Given the description of an element on the screen output the (x, y) to click on. 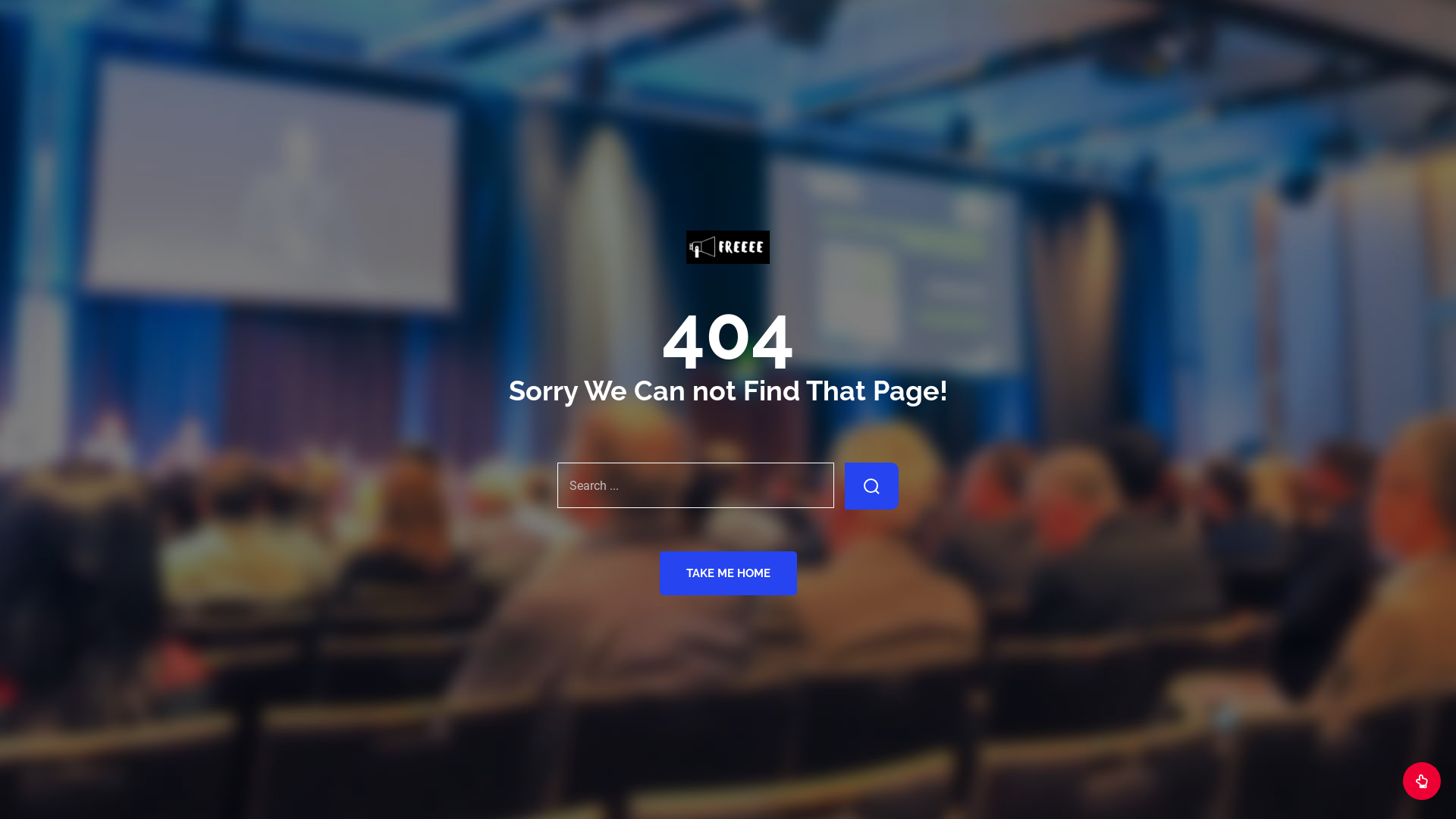
TAKE ME HOME Element type: text (728, 573)
